Given the description of an element on the screen output the (x, y) to click on. 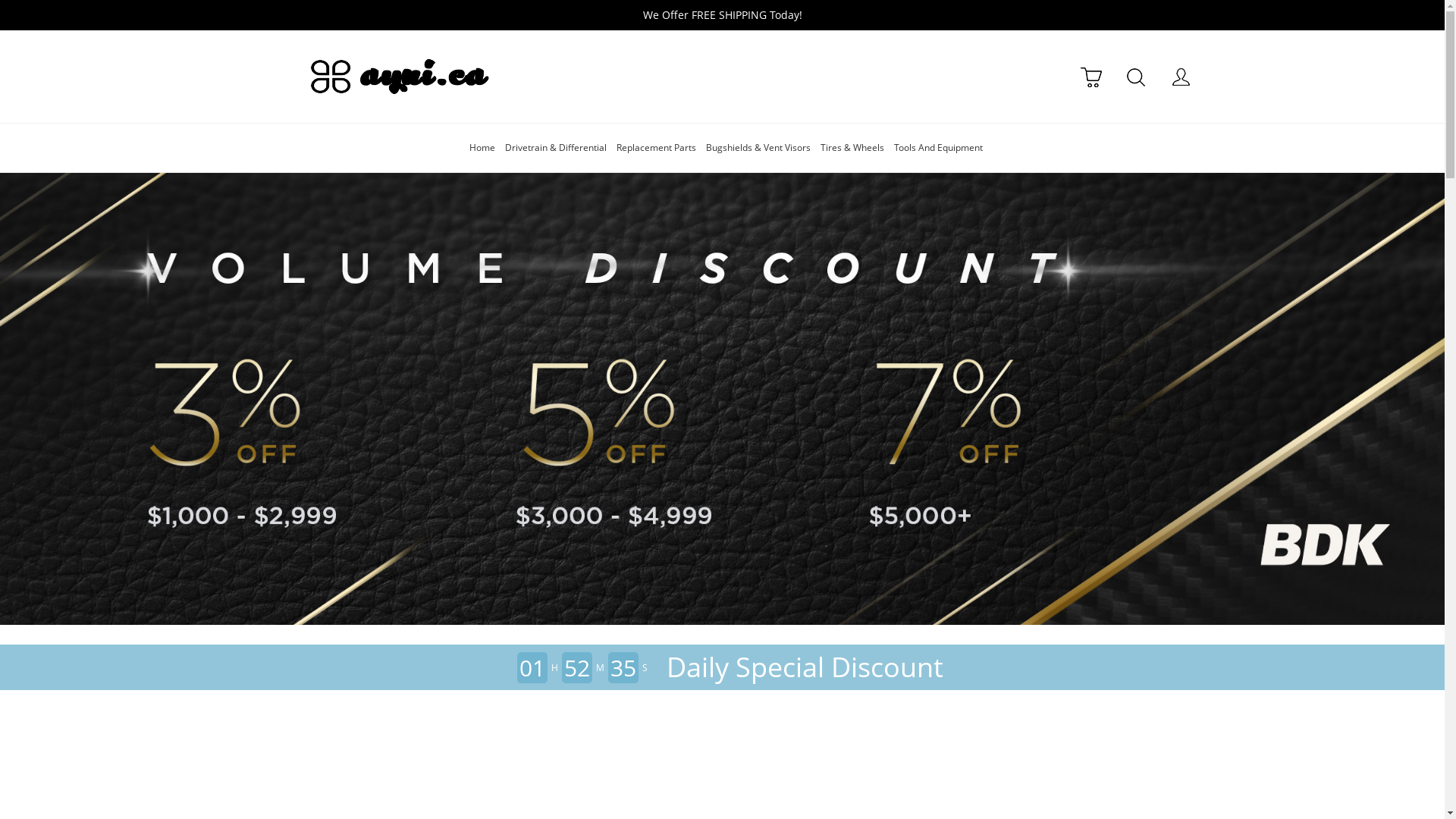
Tires & Wheels Element type: text (852, 147)
Replacement Parts Element type: text (656, 147)
Tools And Equipment Element type: text (938, 147)
Drivetrain & Differential Element type: text (555, 147)
Loud Speaker Microphones Element type: hover (722, 398)
Bugshields & Vent Visors Element type: text (758, 147)
Home Element type: text (482, 147)
